Given the description of an element on the screen output the (x, y) to click on. 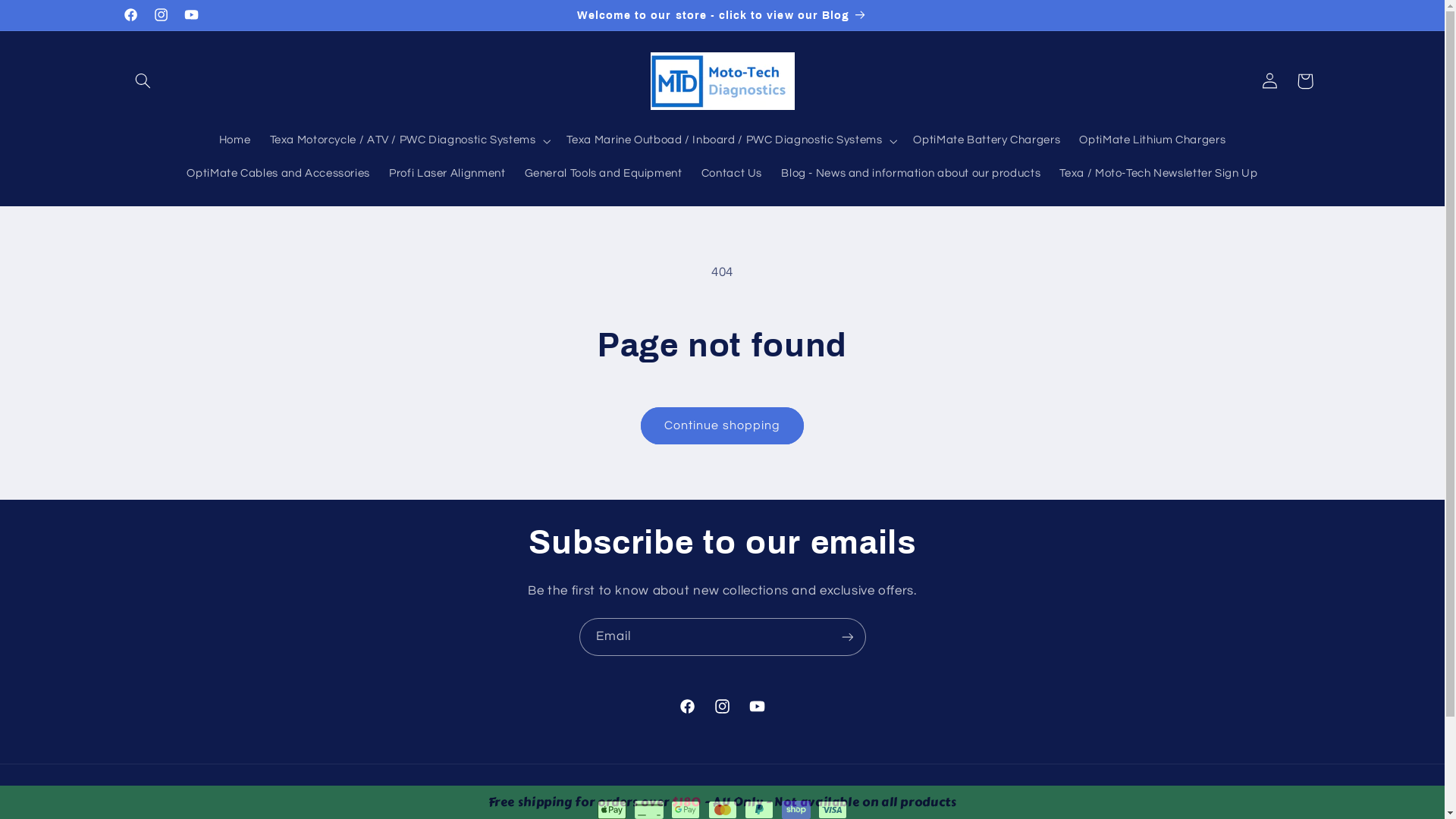
Welcome to our store - click to view our Blog Element type: text (722, 15)
YouTube Element type: text (757, 706)
Instagram Element type: text (160, 15)
Cart Element type: text (1304, 80)
Instagram Element type: text (721, 706)
Continue shopping Element type: text (722, 424)
Facebook Element type: text (686, 706)
Contact Us Element type: text (731, 174)
Profi Laser Alignment Element type: text (446, 174)
OptiMate Cables and Accessories Element type: text (278, 174)
General Tools and Equipment Element type: text (602, 174)
Facebook Element type: text (130, 15)
Home Element type: text (234, 140)
Log in Element type: text (1269, 80)
Blog - News and information about our products Element type: text (910, 174)
Texa / Moto-Tech Newsletter Sign Up Element type: text (1158, 174)
OptiMate Lithium Chargers Element type: text (1152, 140)
YouTube Element type: text (190, 15)
OptiMate Battery Chargers Element type: text (986, 140)
